Given the description of an element on the screen output the (x, y) to click on. 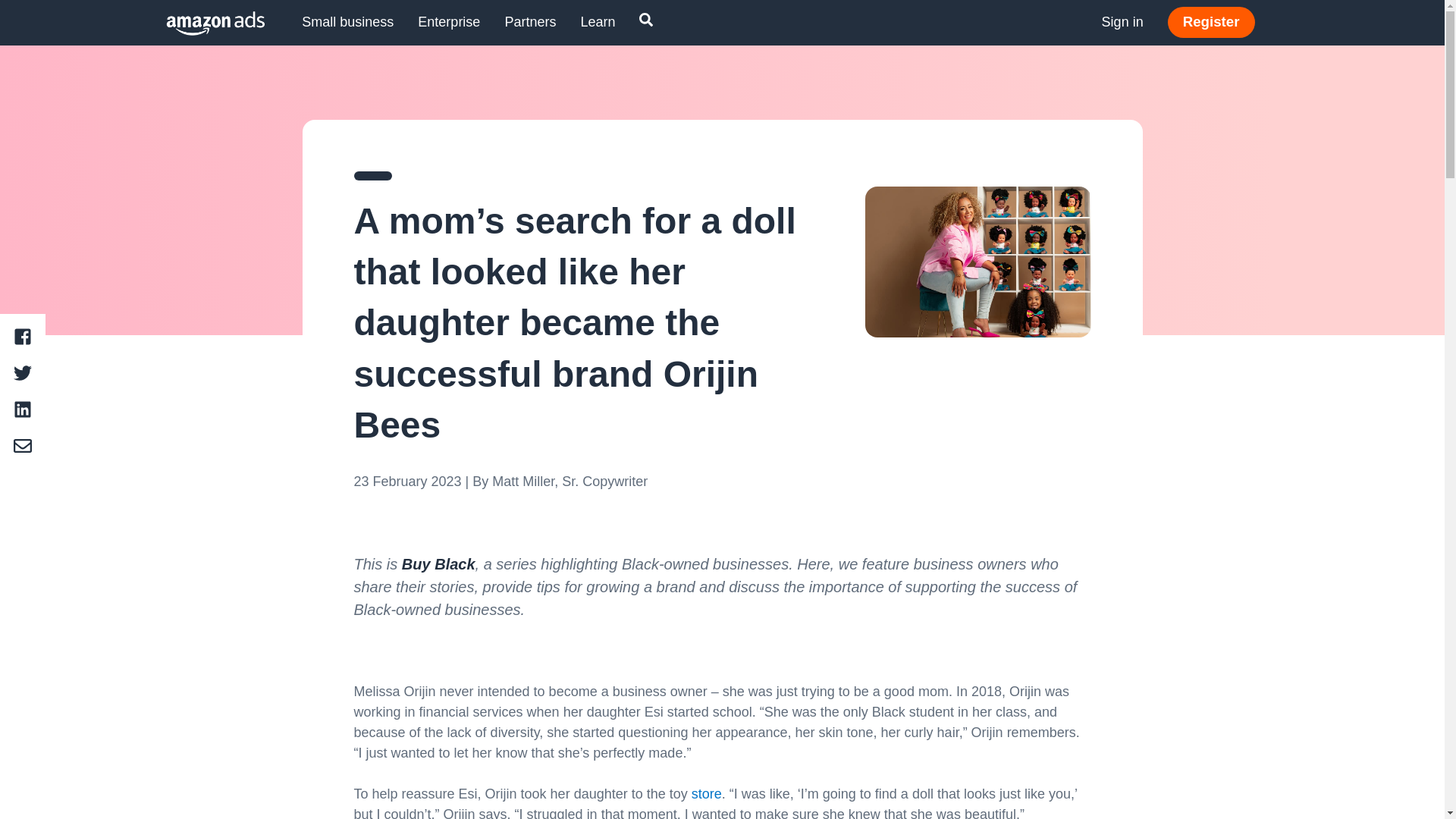
Small business (347, 22)
Enterprise (448, 22)
Amazon Ads (202, 22)
